Given the description of an element on the screen output the (x, y) to click on. 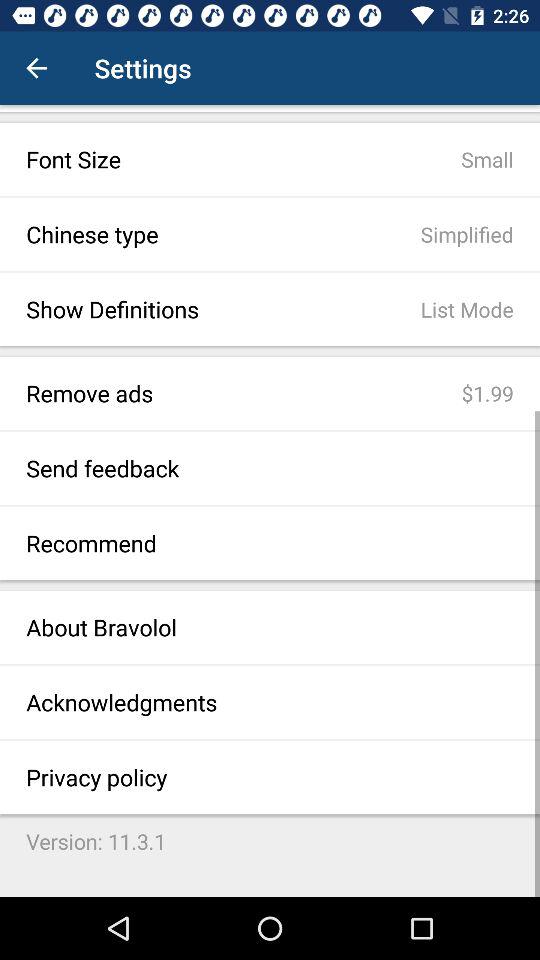
tap item to the left of settings icon (36, 68)
